Given the description of an element on the screen output the (x, y) to click on. 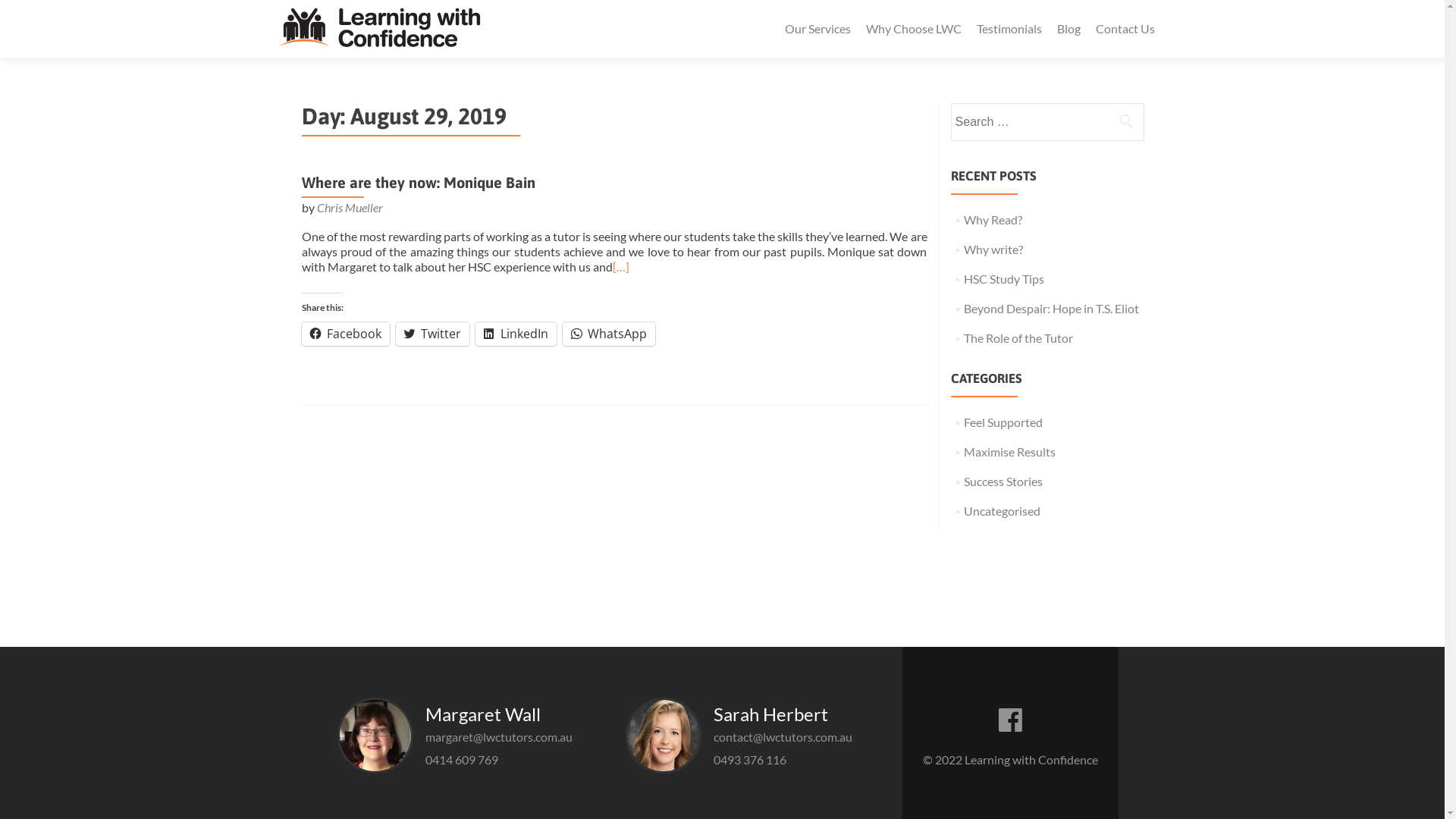
margaret@lwctutors.com.au Element type: text (498, 736)
WhatsApp Element type: text (608, 333)
Beyond Despair: Hope in T.S. Eliot Element type: text (1051, 308)
Chris Mueller Element type: text (349, 207)
Contact Us Element type: text (1124, 28)
Facebook Element type: text (345, 333)
Why write? Element type: text (992, 248)
Blog Element type: text (1068, 28)
Our Services Element type: text (817, 28)
LinkedIn Element type: text (514, 333)
Uncategorised Element type: text (1001, 510)
Twitter Element type: text (432, 333)
Maximise Results Element type: text (1009, 451)
Facebook Element type: hover (1010, 715)
Why Choose LWC Element type: text (913, 28)
Where are they now: Monique Bain Element type: text (418, 182)
Testimonials Element type: text (1008, 28)
HSC Study Tips Element type: text (1003, 278)
Feel Supported Element type: text (1002, 421)
contact@lwctutors.com.au Element type: text (782, 736)
Success Stories Element type: text (1002, 480)
Why Read? Element type: text (992, 219)
Search Element type: text (1125, 120)
The Role of the Tutor Element type: text (1018, 337)
